Given the description of an element on the screen output the (x, y) to click on. 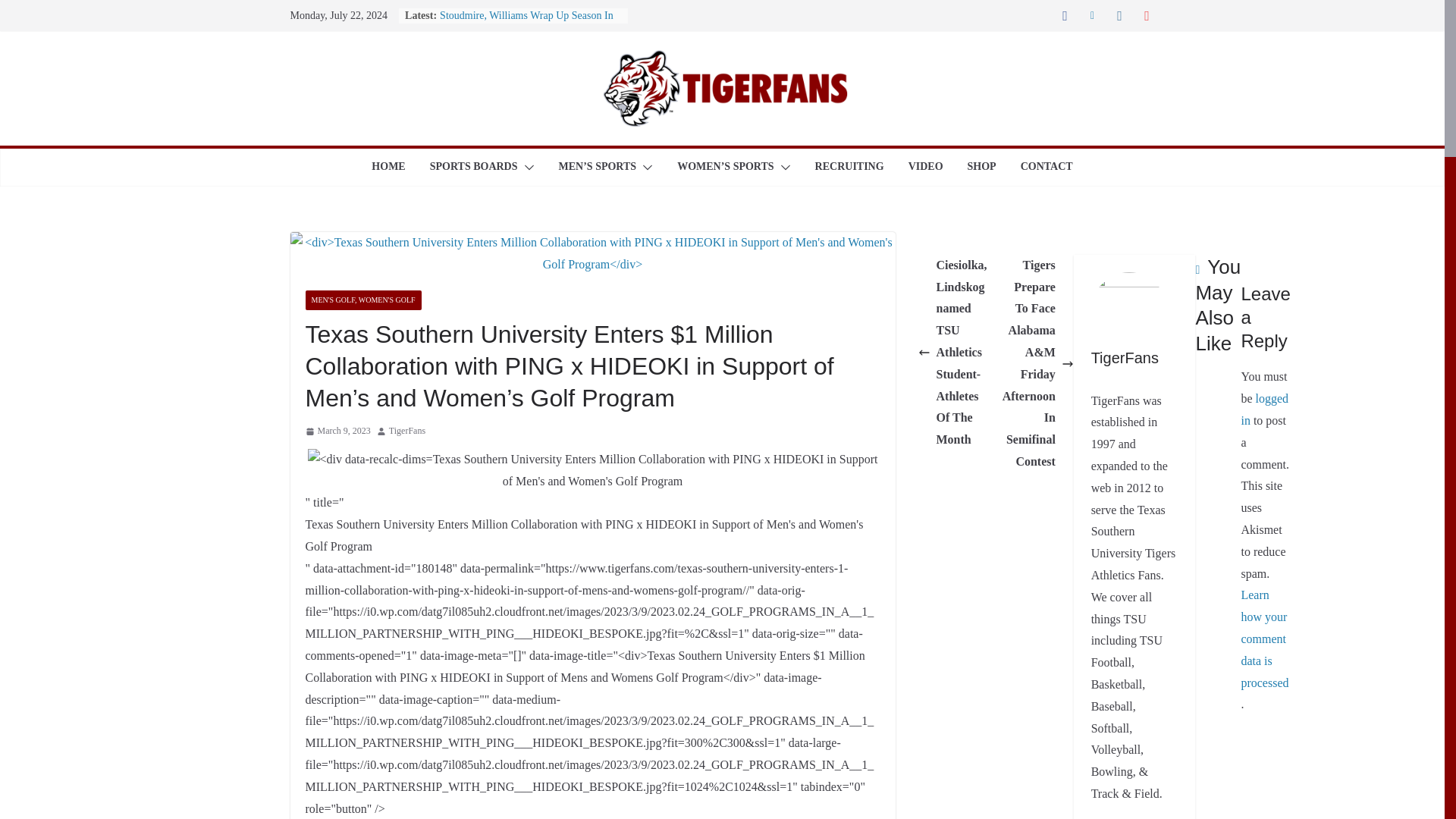
CONTACT (1046, 167)
MEN'S GOLF, WOMEN'S GOLF (362, 300)
5:41 AM (336, 431)
HOME (387, 167)
Stoudmire, Williams Wrap Up Season In Fayetteville (525, 22)
SPORTS BOARDS (473, 167)
TigerFans (406, 431)
Stoudmire, Williams Wrap Up Season In Fayetteville (525, 22)
SHOP (981, 167)
RECRUITING (849, 167)
TigerFans (406, 431)
March 9, 2023 (336, 431)
VIDEO (925, 167)
